Given the description of an element on the screen output the (x, y) to click on. 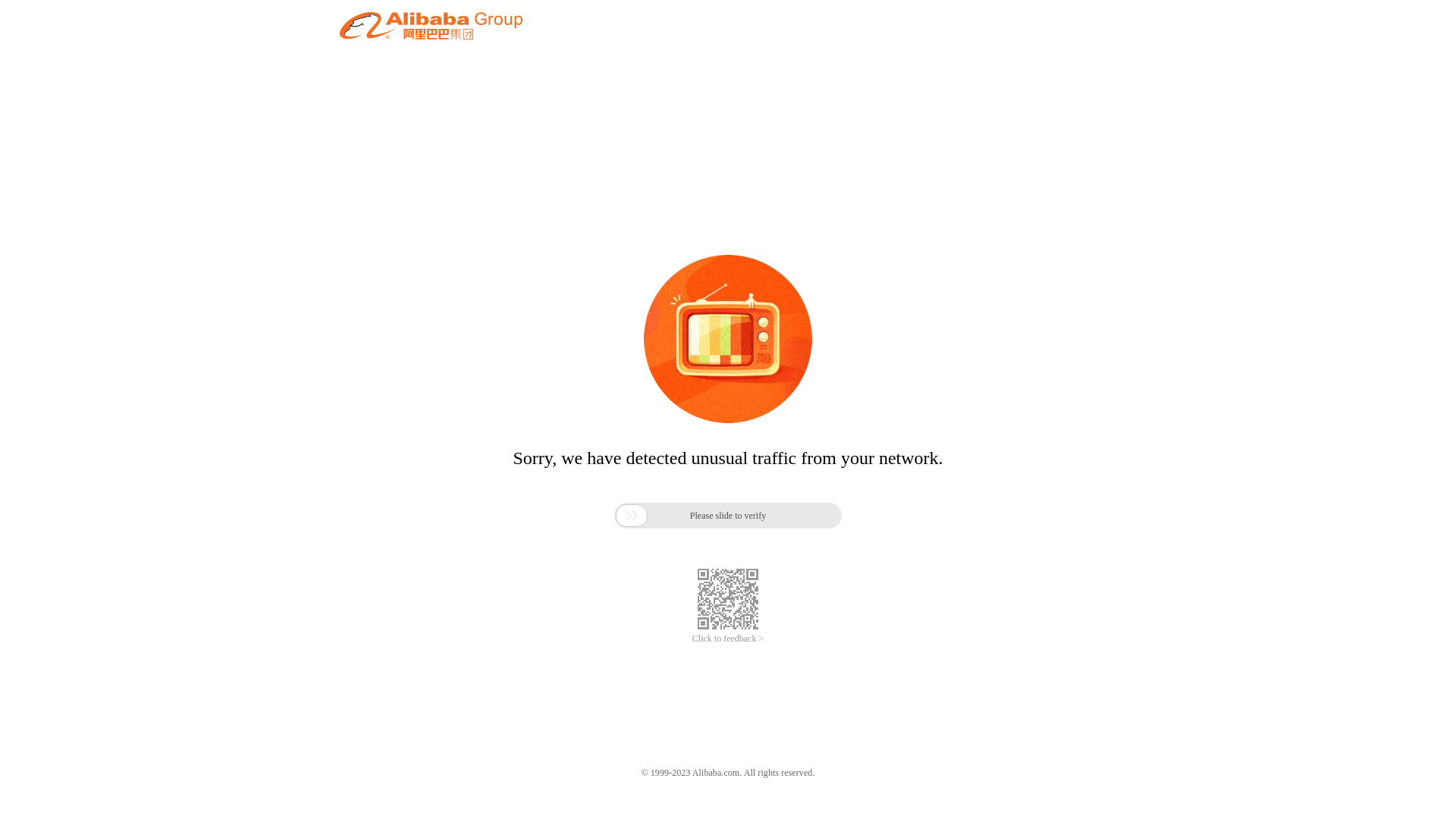
Click to feedback > Element type: text (727, 638)
